Given the description of an element on the screen output the (x, y) to click on. 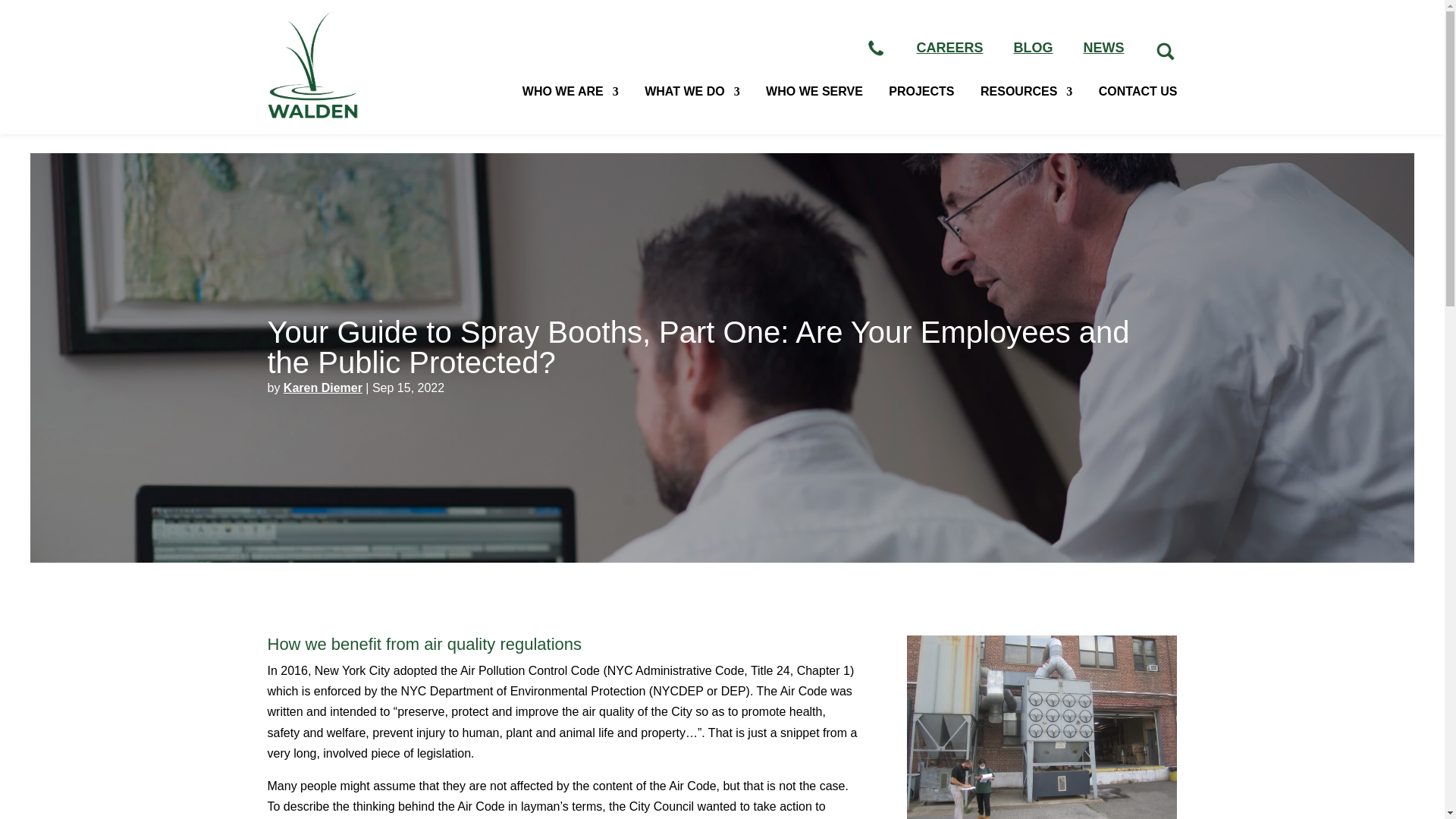
Posts by Karen Diemer (322, 387)
BLOG (1032, 47)
spray booths exterior 091522 (1041, 727)
CAREERS (948, 47)
WHAT WE DO (692, 91)
WHO WE ARE (570, 91)
NEWS (1103, 47)
